Given the description of an element on the screen output the (x, y) to click on. 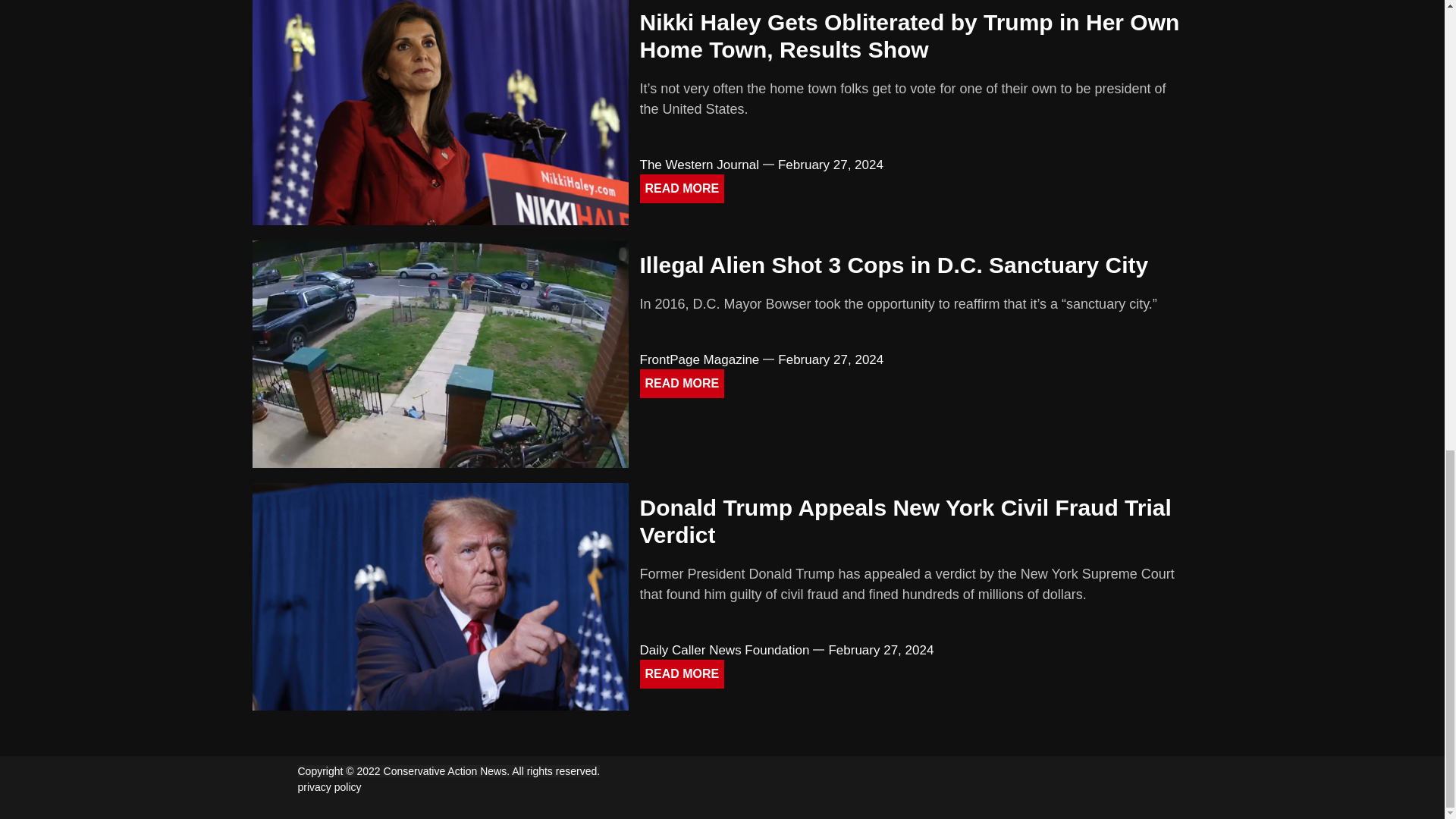
Conservative Action News.  (448, 770)
READ MORE (682, 383)
privacy policy (329, 787)
Illegal Alien Shot 3 Cops in D.C. Sanctuary City (894, 264)
The Western Journal (699, 164)
READ MORE (682, 674)
Donald Trump Appeals New York Civil Fraud Trial Verdict (906, 521)
February 27, 2024 (830, 164)
Illegal Alien Shot 3 Cops in D.C. Sanctuary City (894, 264)
Conservative Action News (448, 770)
Daily Caller News Foundation (724, 649)
February 27, 2024 (830, 359)
Donald Trump Appeals New York Civil Fraud Trial Verdict (906, 521)
FrontPage Magazine (700, 359)
